Given the description of an element on the screen output the (x, y) to click on. 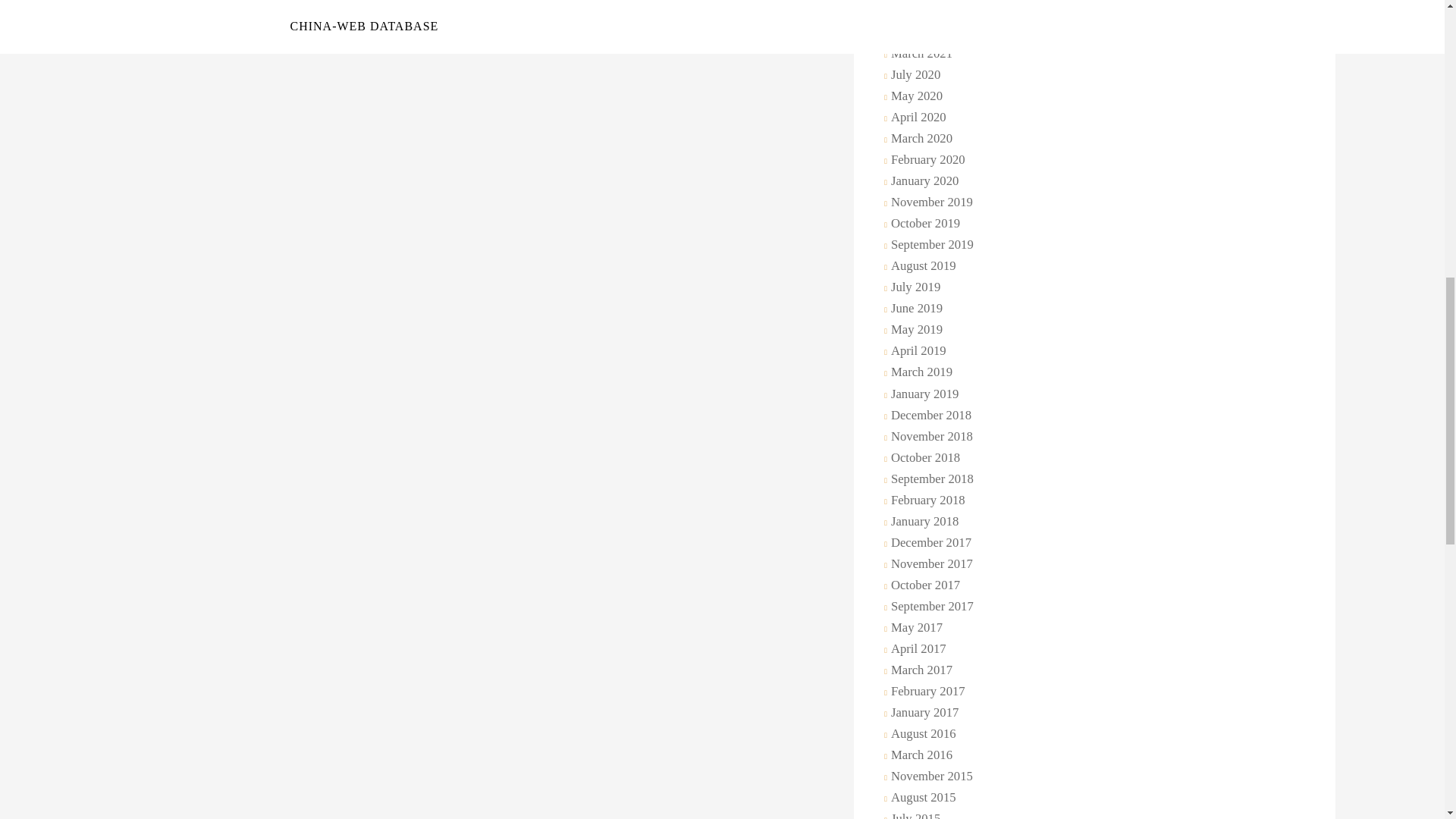
March 2021 (919, 54)
June 2019 (914, 309)
July 2019 (913, 288)
July 2020 (913, 75)
June 2023 (914, 12)
January 2019 (922, 394)
January 2020 (922, 181)
December 2018 (928, 416)
August 2019 (921, 266)
March 2019 (919, 372)
